Given the description of an element on the screen output the (x, y) to click on. 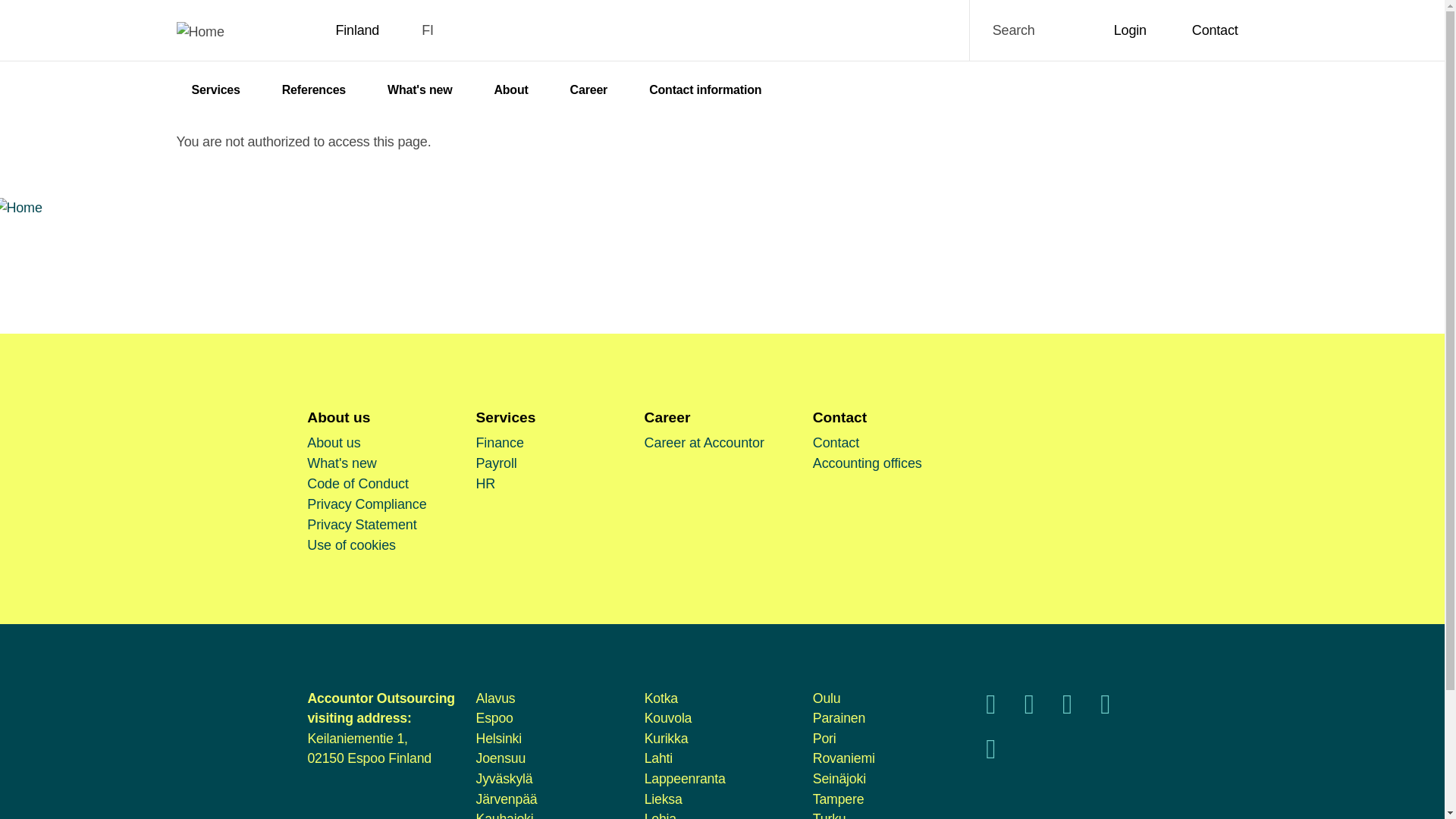
Facebook (990, 708)
Twitter (1029, 708)
LinkedIn (990, 753)
Youtube (1066, 708)
Instagram (1104, 708)
